Given the description of an element on the screen output the (x, y) to click on. 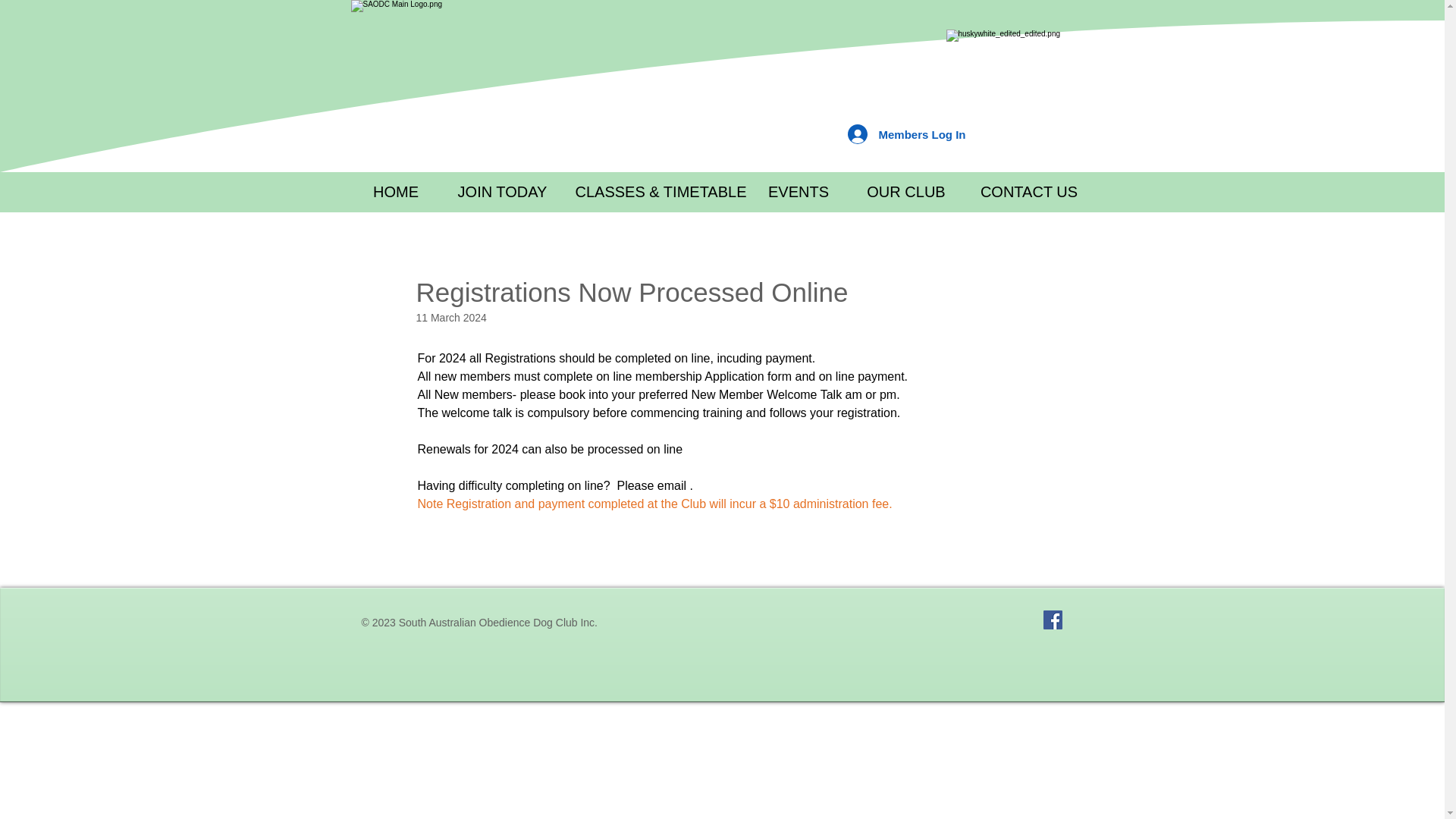
EVENTS (798, 191)
HOME (395, 191)
Members Log In (906, 133)
JOIN TODAY (502, 191)
CONTACT US (1028, 191)
